Given the description of an element on the screen output the (x, y) to click on. 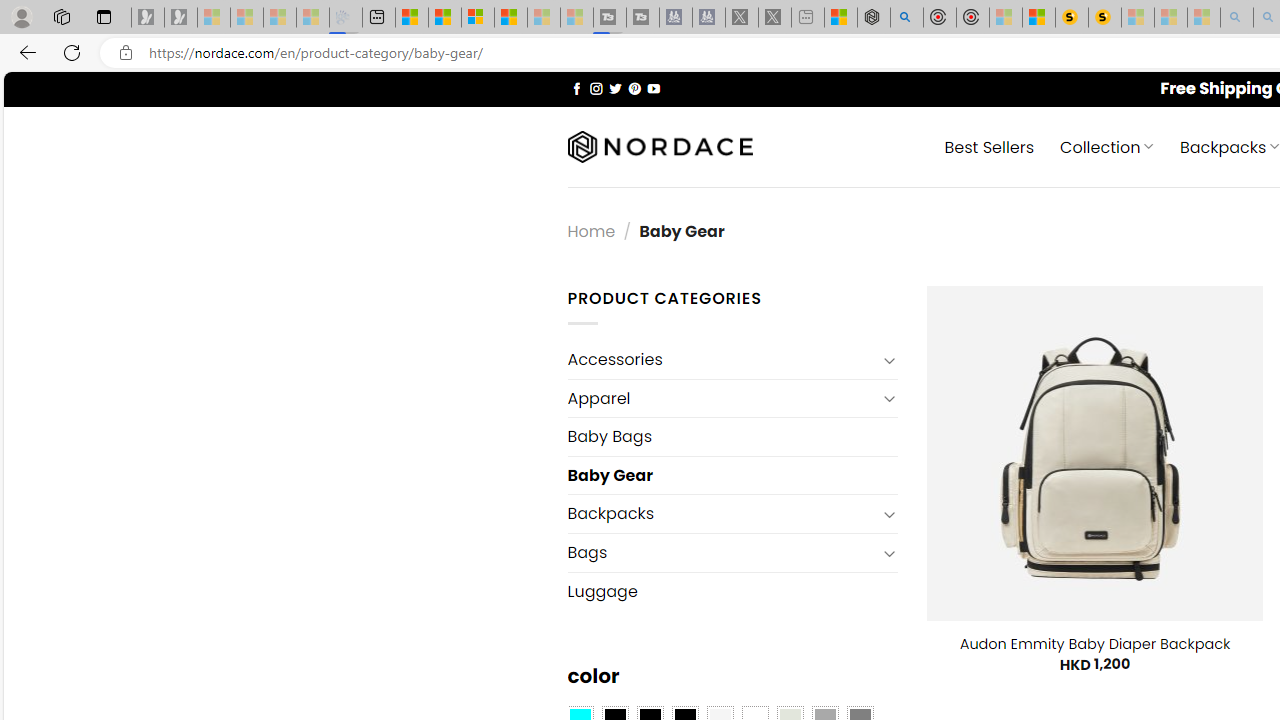
 Best Sellers (989, 146)
